Given the description of an element on the screen output the (x, y) to click on. 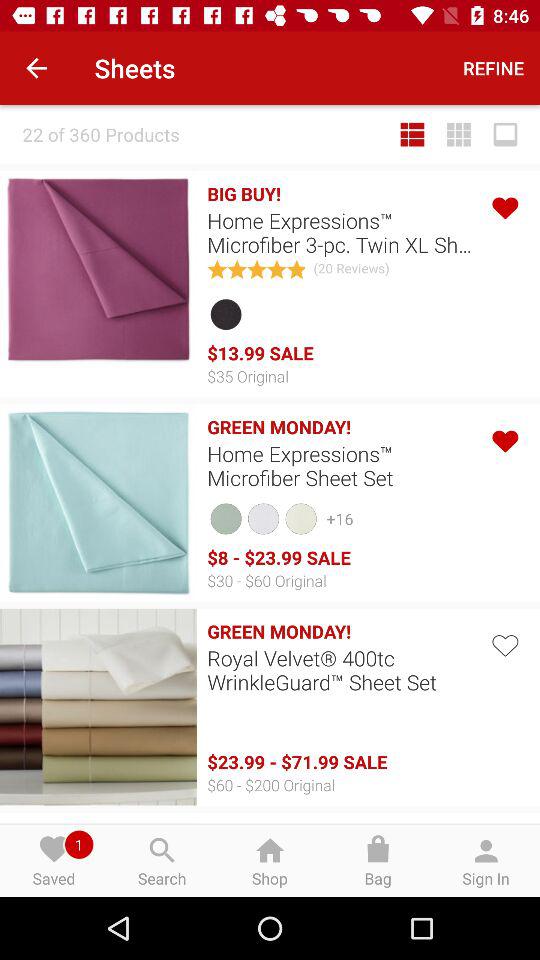
like option (504, 205)
